Given the description of an element on the screen output the (x, y) to click on. 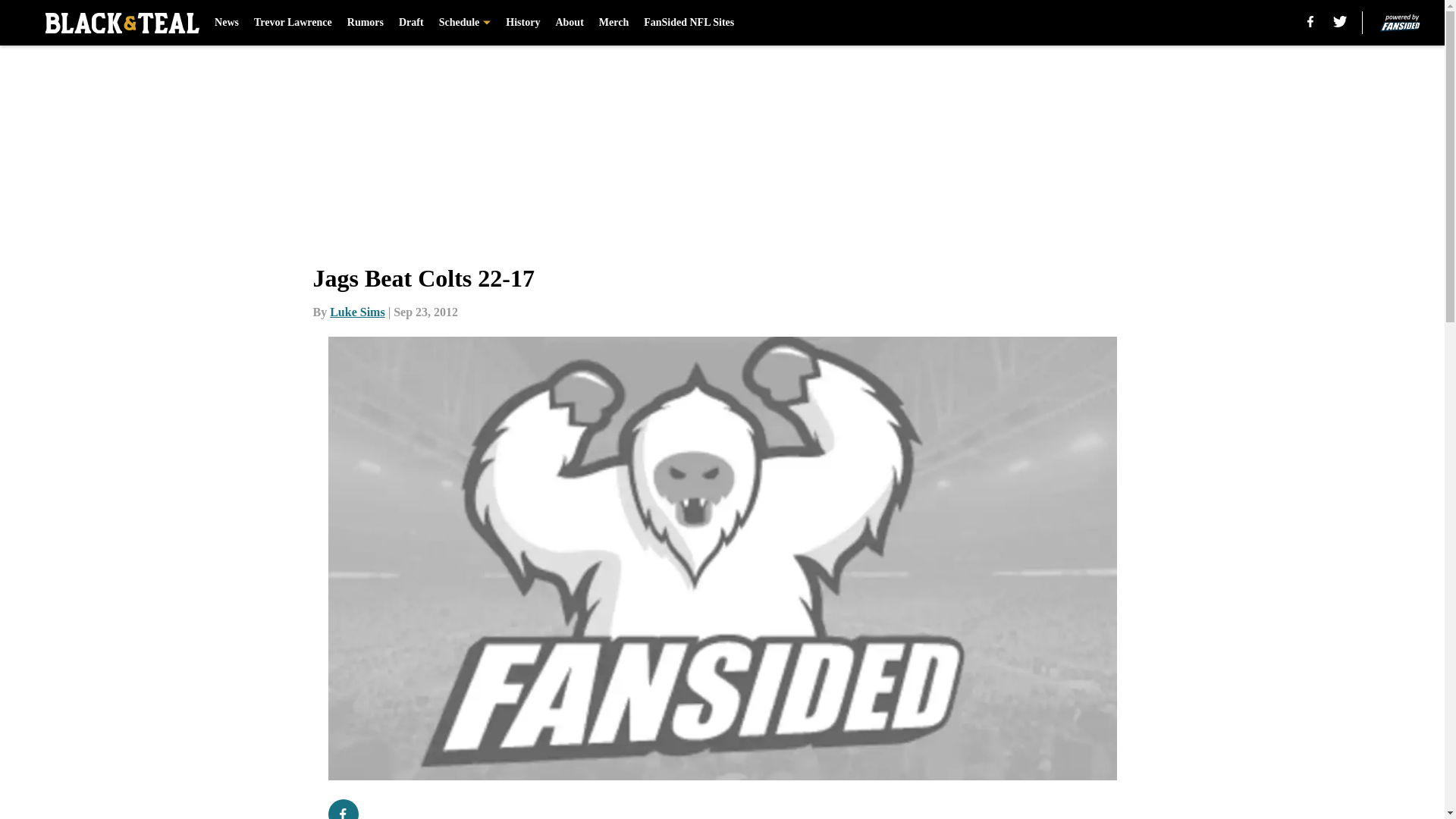
News (226, 22)
Rumors (365, 22)
About (568, 22)
History (522, 22)
FanSided NFL Sites (688, 22)
Draft (410, 22)
Merch (613, 22)
Trevor Lawrence (292, 22)
Luke Sims (357, 311)
